Given the description of an element on the screen output the (x, y) to click on. 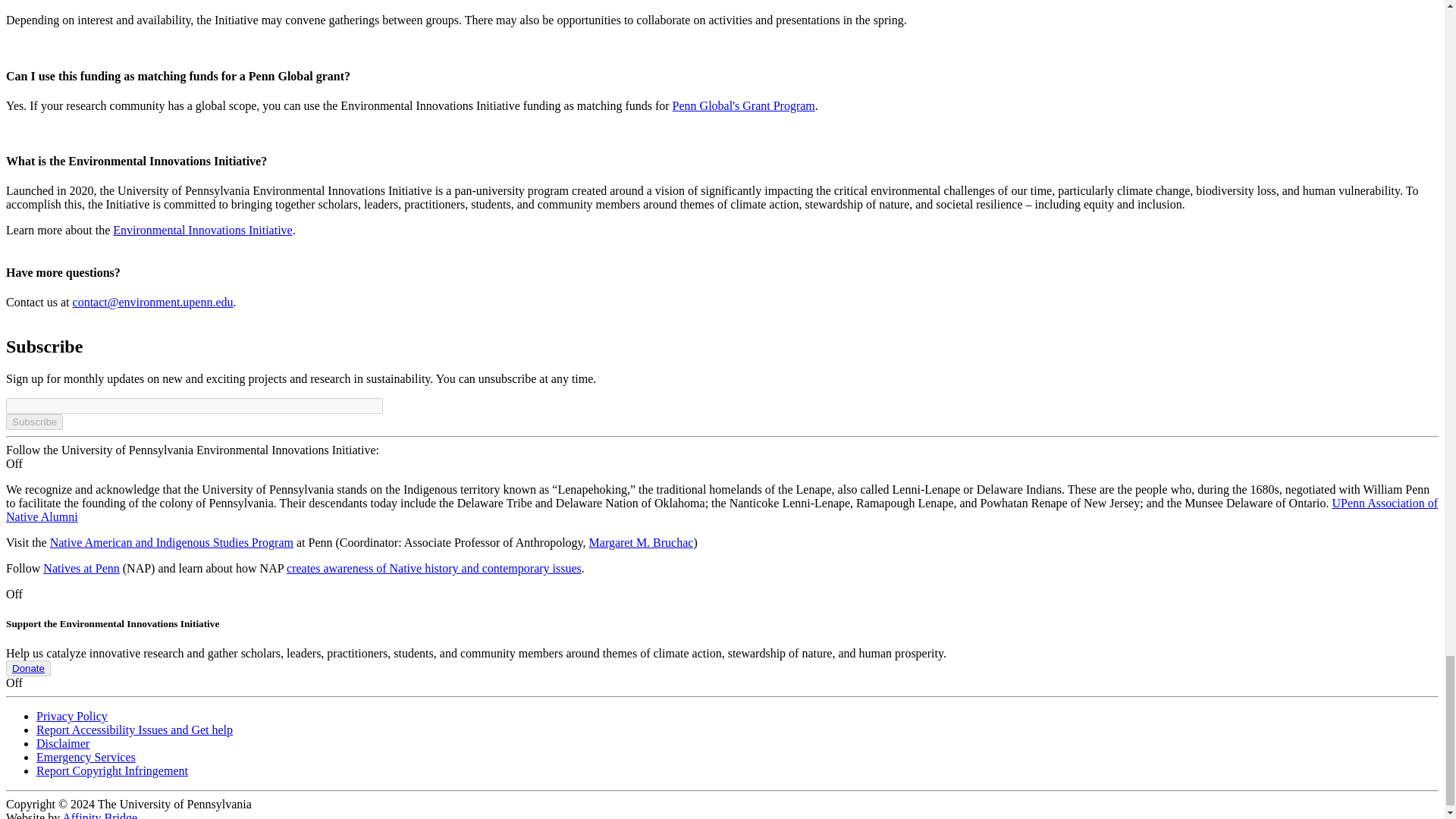
Report Copyright Infringement (111, 770)
Emergency Services (85, 757)
Disclaimer (62, 743)
Privacy Policy (71, 716)
